Given the description of an element on the screen output the (x, y) to click on. 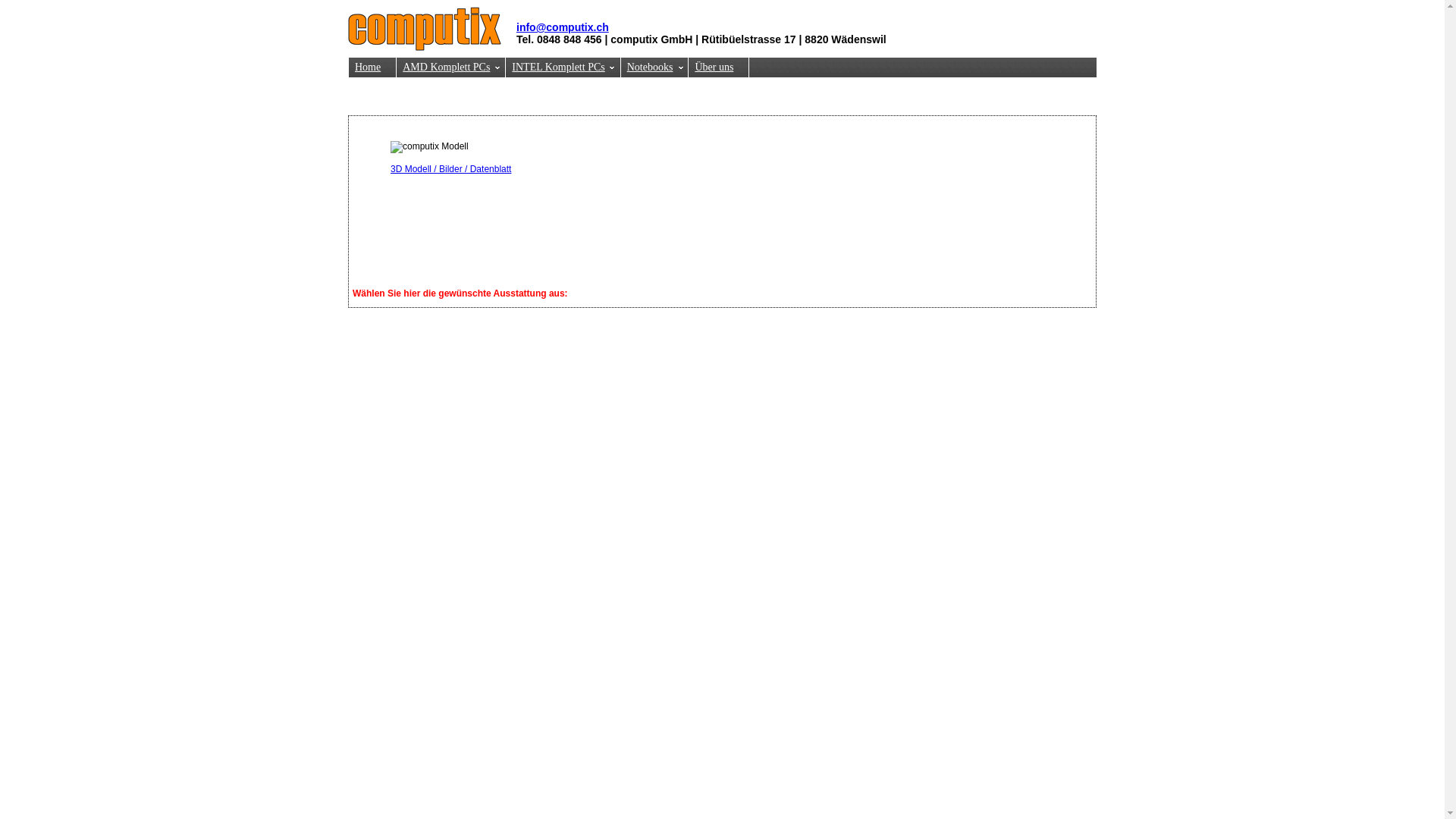
Notebooks Element type: text (655, 67)
3D Modell / Bilder / Datenblatt Element type: text (450, 168)
Home Element type: text (372, 67)
INTEL Komplett PCs Element type: text (562, 67)
AMD Komplett PCs Element type: text (450, 67)
info@computix.ch Element type: text (562, 27)
